Given the description of an element on the screen output the (x, y) to click on. 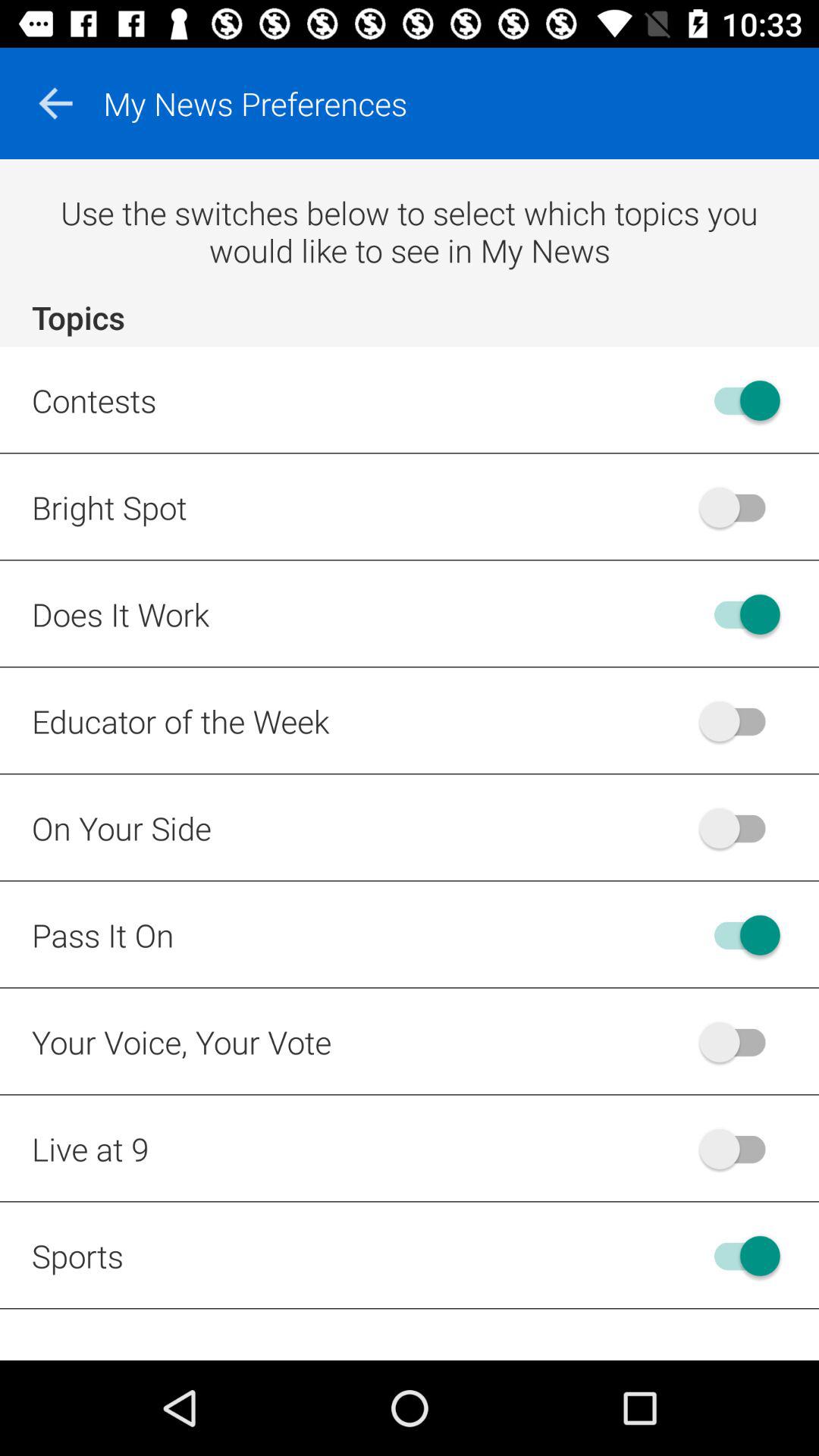
go back (55, 103)
